Given the description of an element on the screen output the (x, y) to click on. 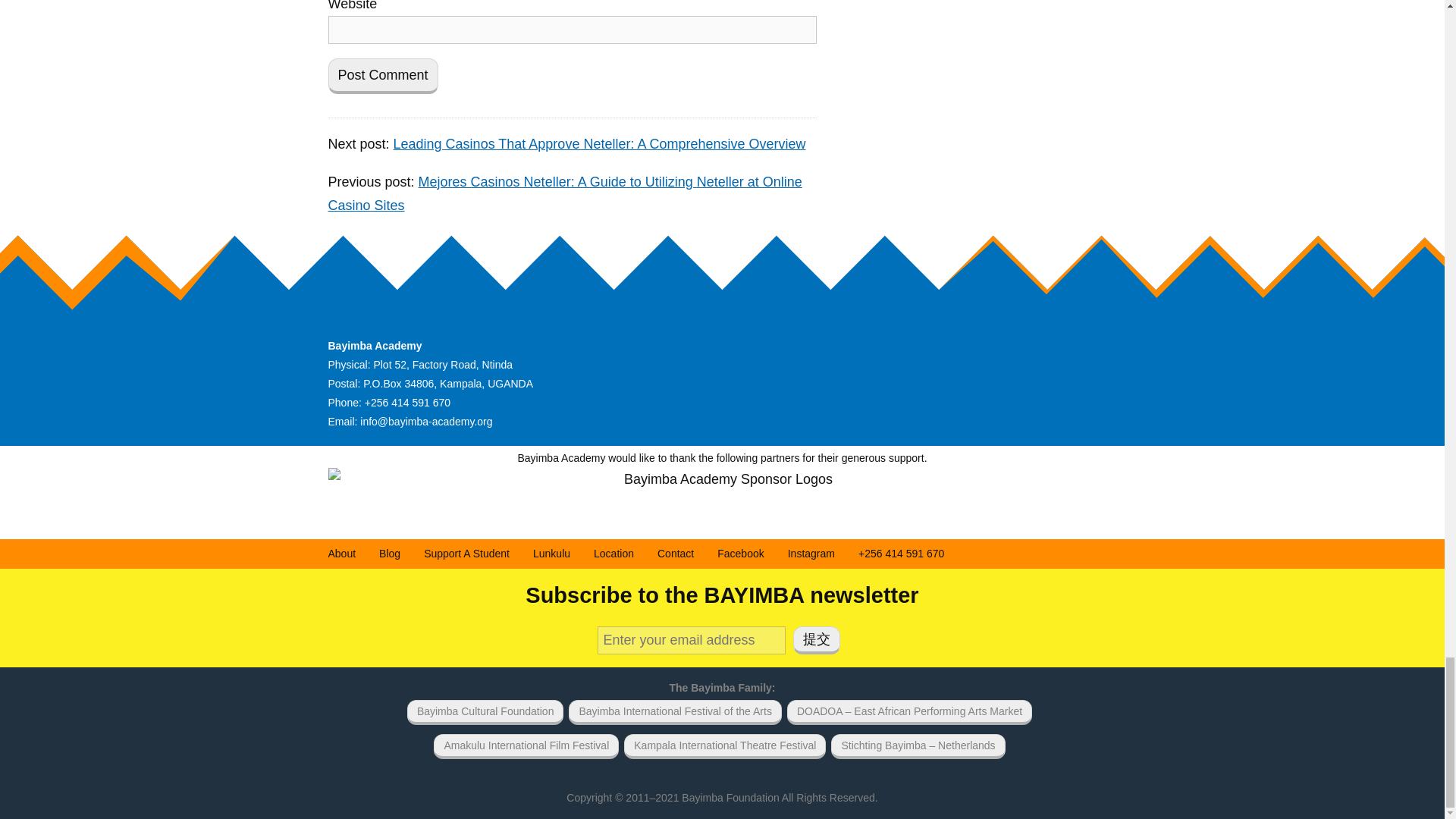
Support A Student (466, 553)
Post Comment (382, 76)
Facebook (739, 553)
Bayimba International Festival of the Arts (674, 712)
Instagram (810, 553)
Bayimba Cultural Foundation (485, 712)
Location (613, 553)
Post Comment (382, 76)
About (341, 553)
